Given the description of an element on the screen output the (x, y) to click on. 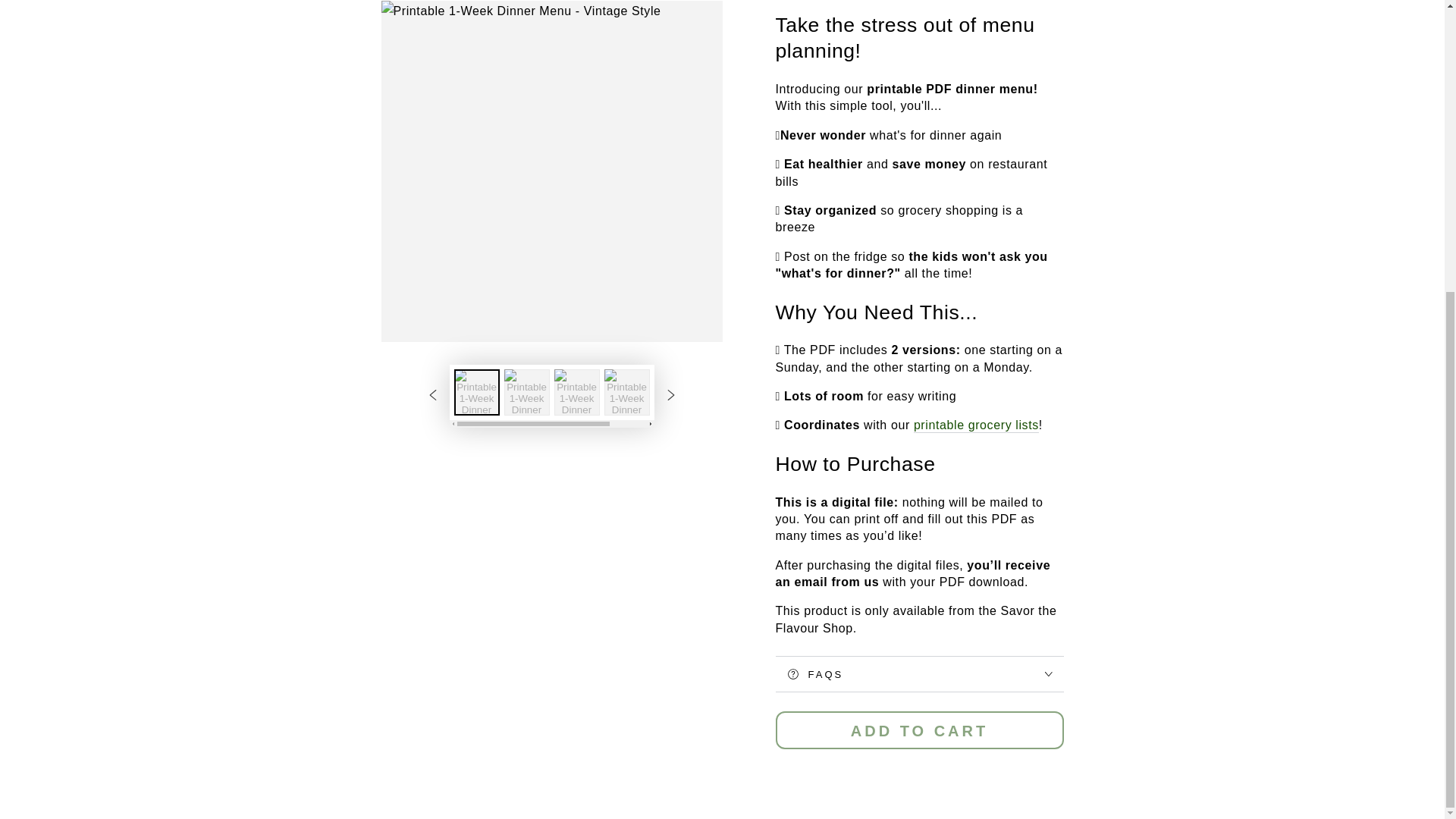
printable grocery lists (976, 425)
Open media 1 in modal (551, 36)
